Given the description of an element on the screen output the (x, y) to click on. 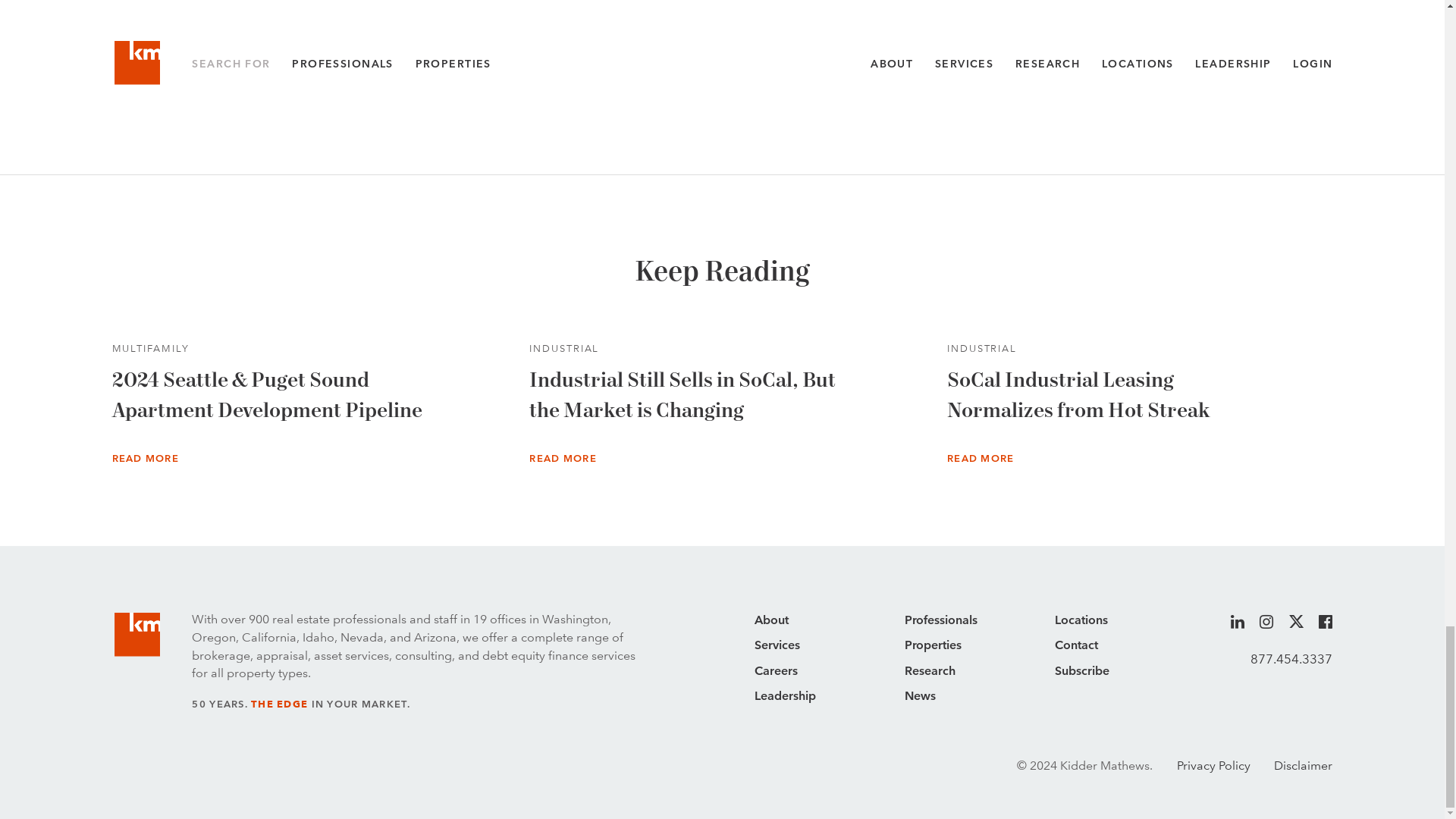
FACEBOOK (718, 99)
LINKEDIN (799, 99)
About (829, 619)
TWITTER (640, 99)
